Given the description of an element on the screen output the (x, y) to click on. 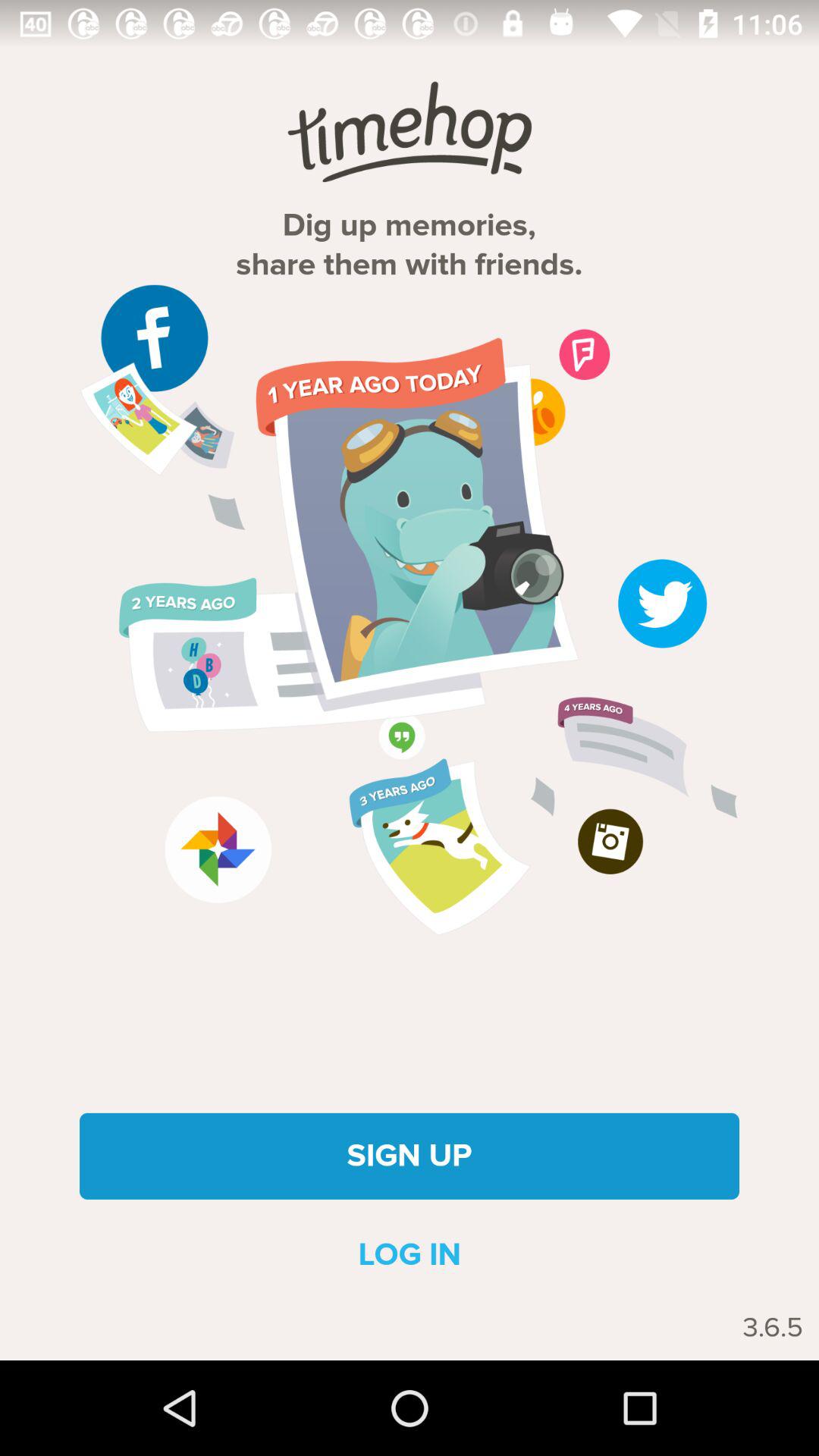
press the item below sign up item (409, 1255)
